Given the description of an element on the screen output the (x, y) to click on. 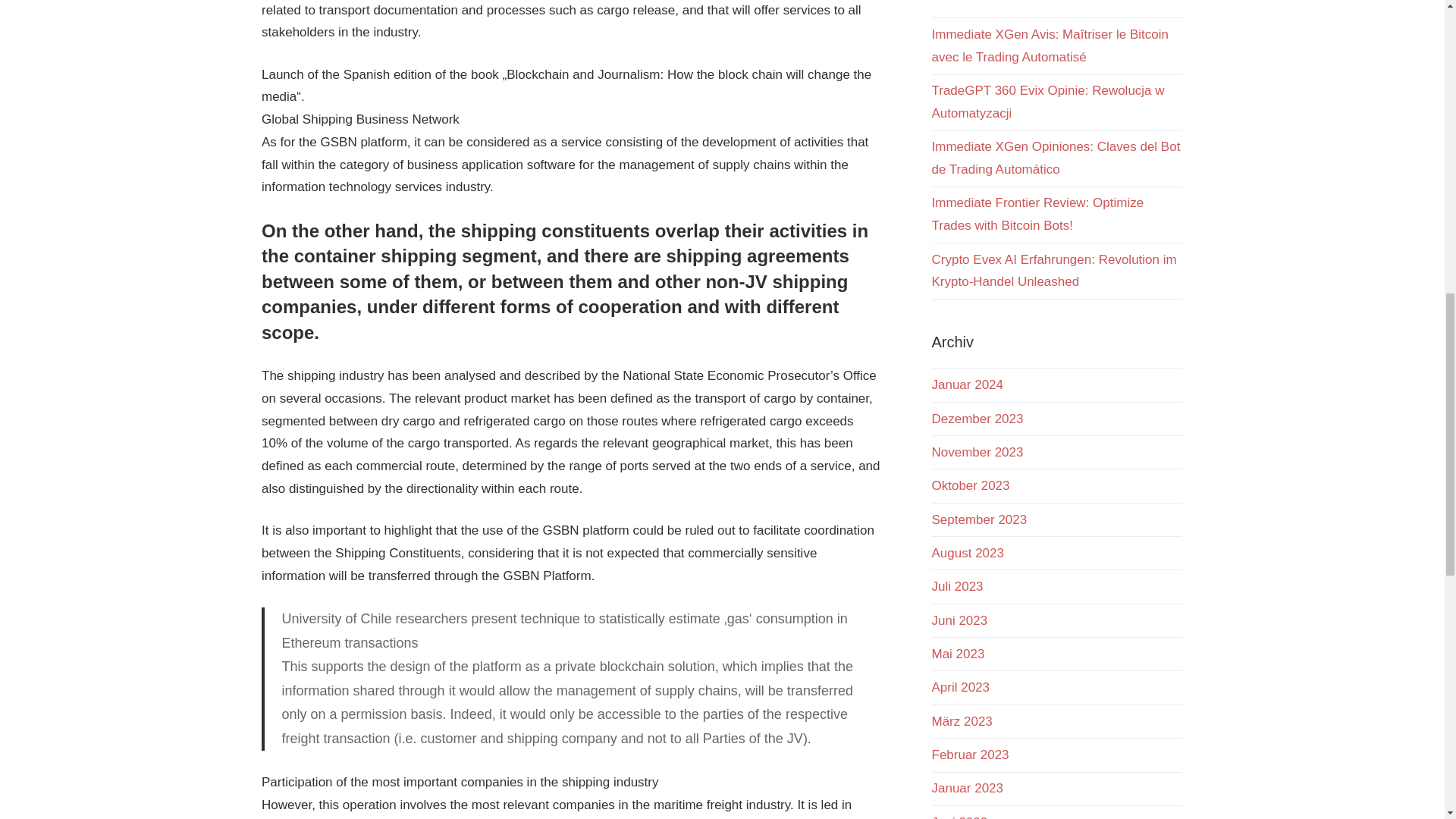
August 2023 (967, 553)
April 2023 (960, 687)
Oktober 2023 (970, 485)
September 2023 (978, 519)
TradeGPT 360 Evix Opinie: Rewolucja w Automatyzacji (1047, 101)
Juli 2023 (956, 586)
November 2023 (977, 452)
Juni 2023 (959, 620)
